Given the description of an element on the screen output the (x, y) to click on. 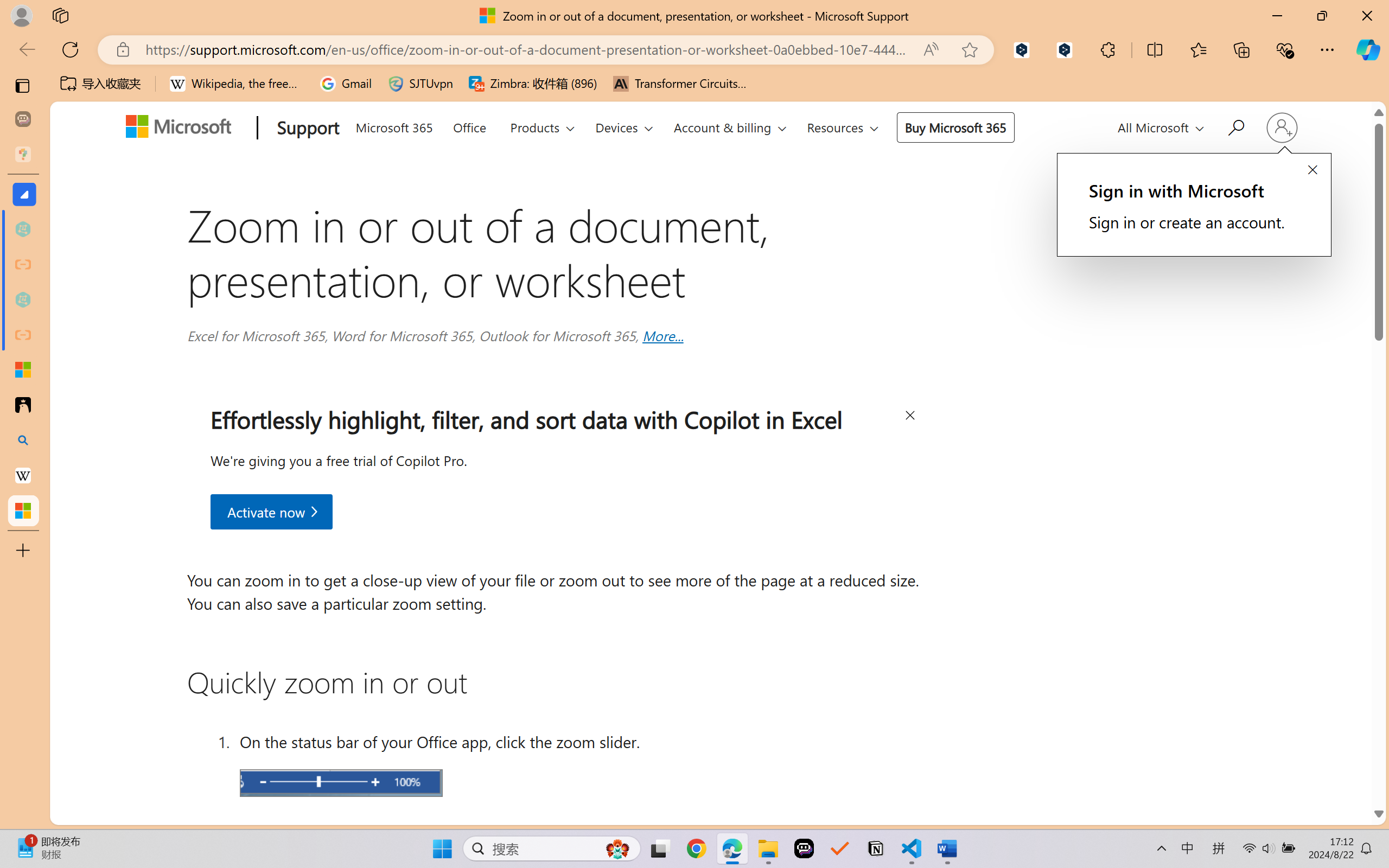
Buy Microsoft 365 (954, 126)
Support (305, 128)
